Given the description of an element on the screen output the (x, y) to click on. 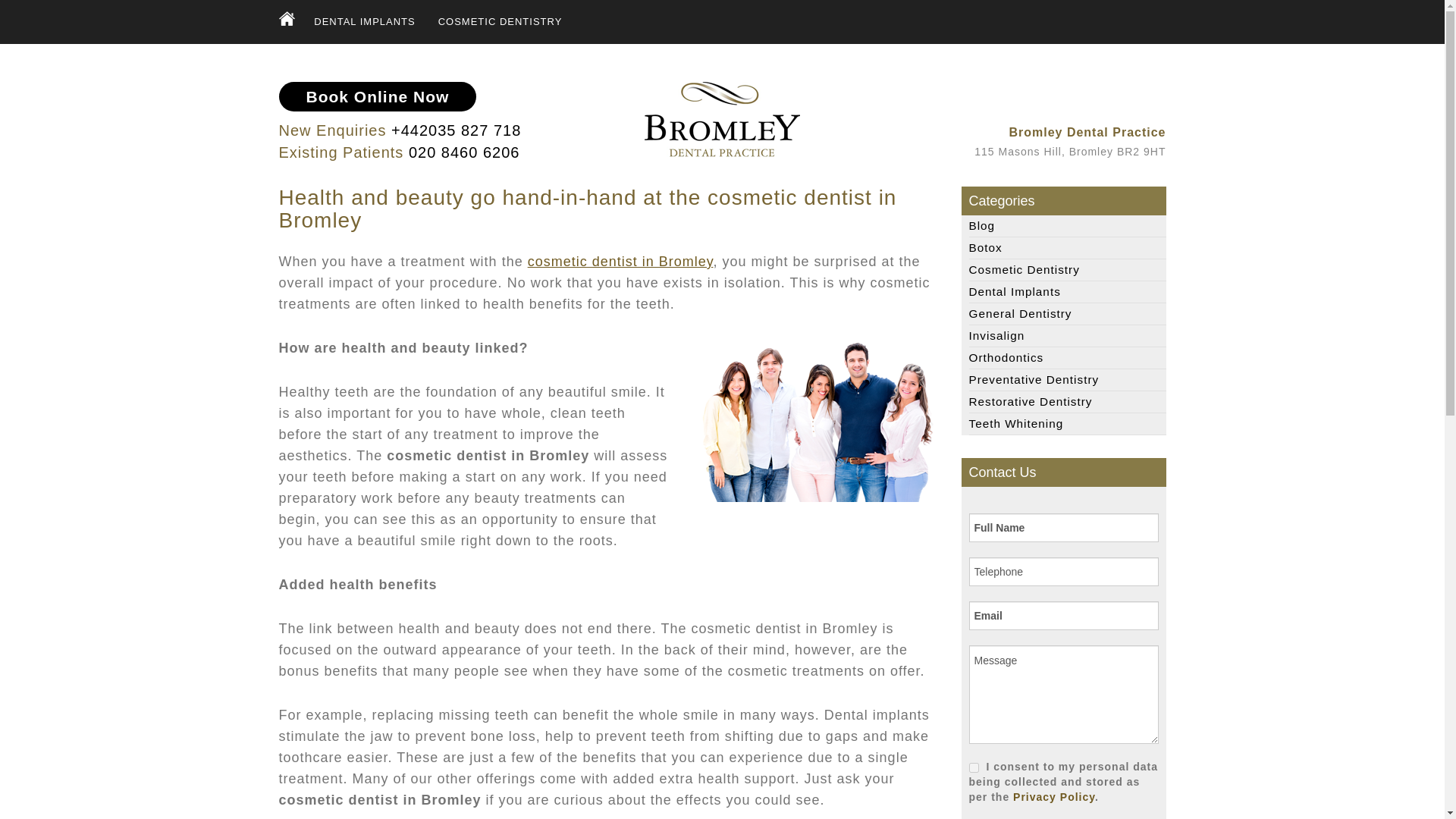
Teeth Whitening (1067, 423)
Restorative Dentistry (1067, 401)
Blog (1067, 225)
DENTAL IMPLANTS (363, 21)
Book Online Now (378, 96)
020 8460 6206 (464, 152)
Email (1063, 615)
Botox (1067, 247)
Yes (973, 767)
COSMETIC DENTISTRY (500, 21)
Full Name (1063, 527)
Invisalign (1067, 335)
Dental Implants (1067, 291)
Privacy Policy (1053, 797)
Cosmetic Dentistry (500, 21)
